Given the description of an element on the screen output the (x, y) to click on. 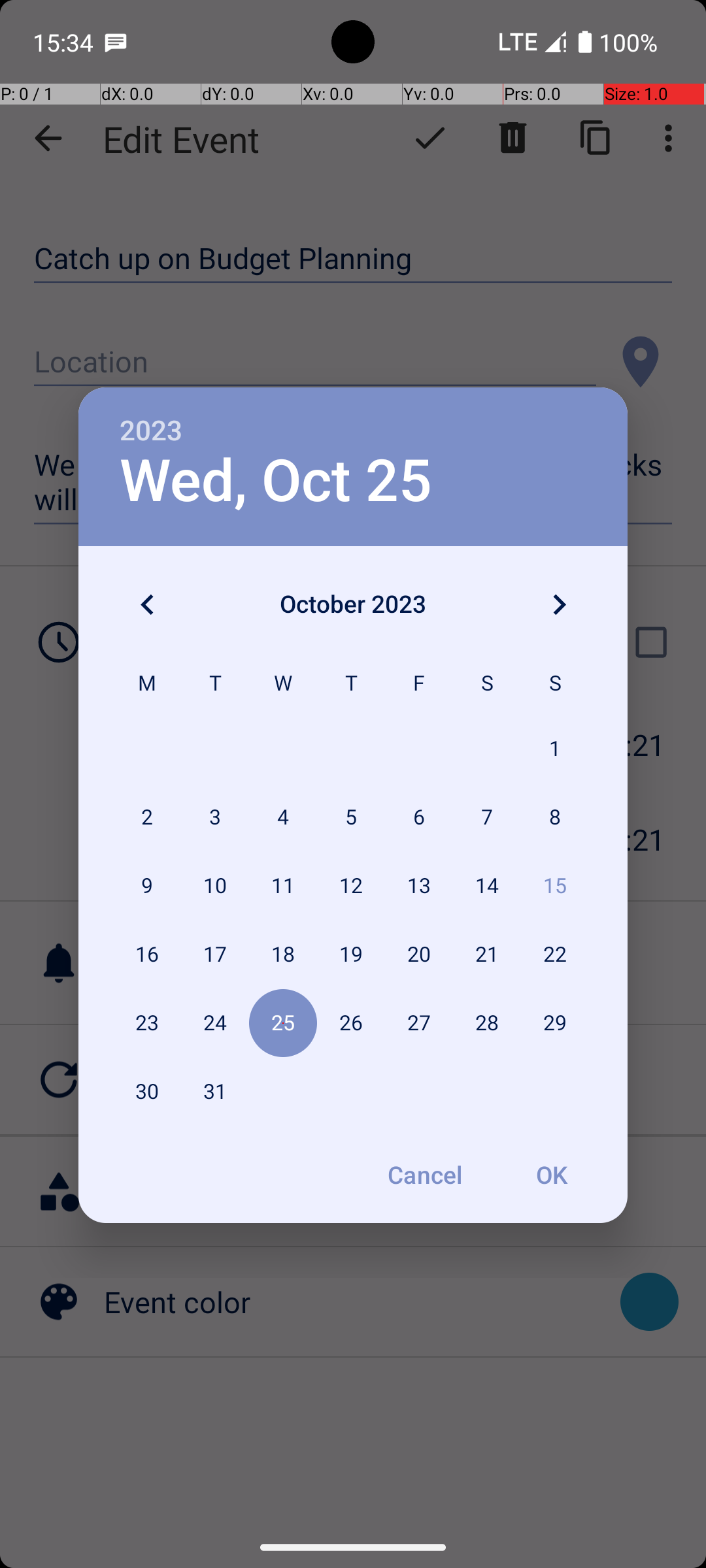
Wed, Oct 25 Element type: android.widget.TextView (275, 480)
